Given the description of an element on the screen output the (x, y) to click on. 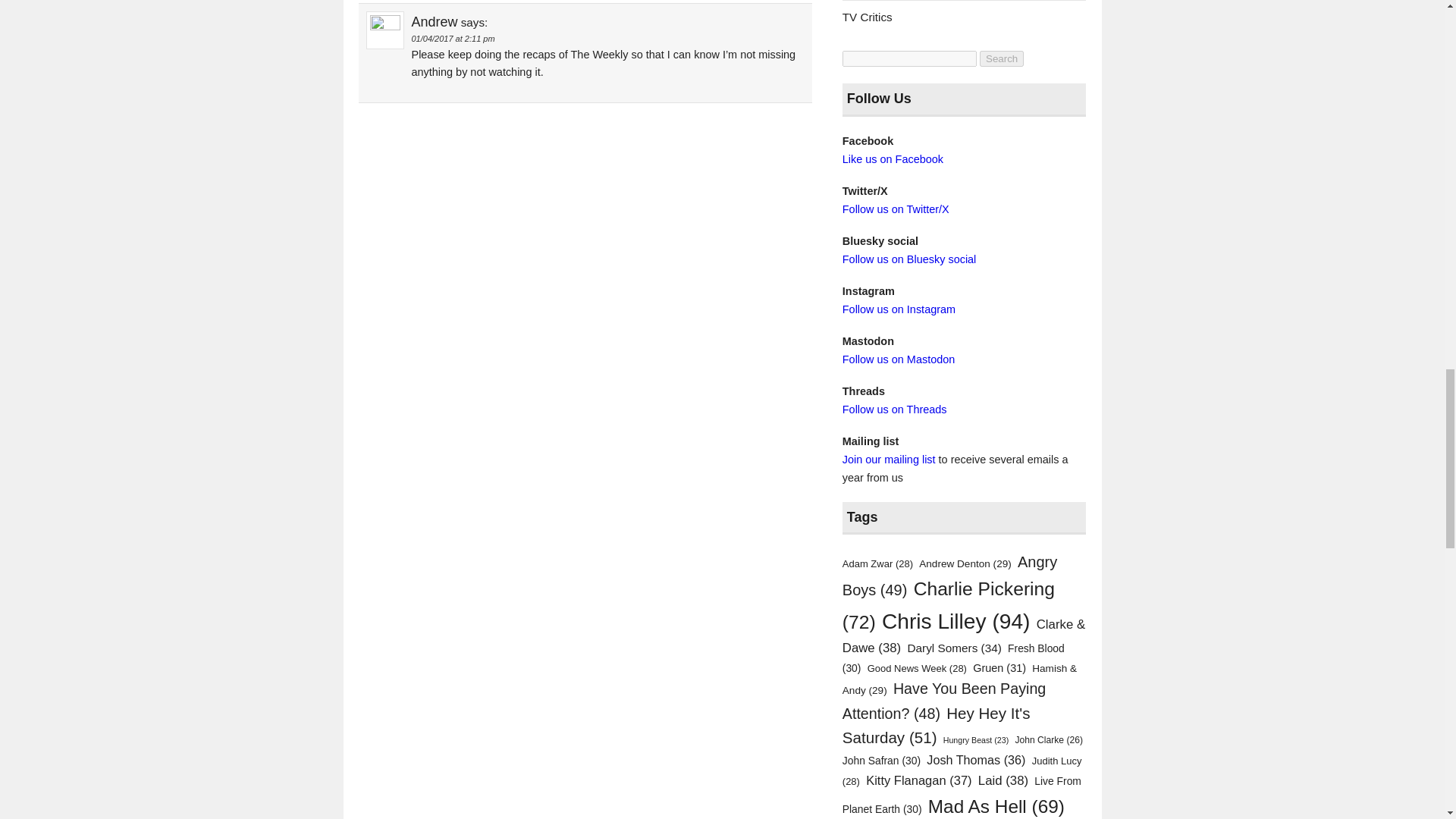
Search (1001, 58)
